Given the description of an element on the screen output the (x, y) to click on. 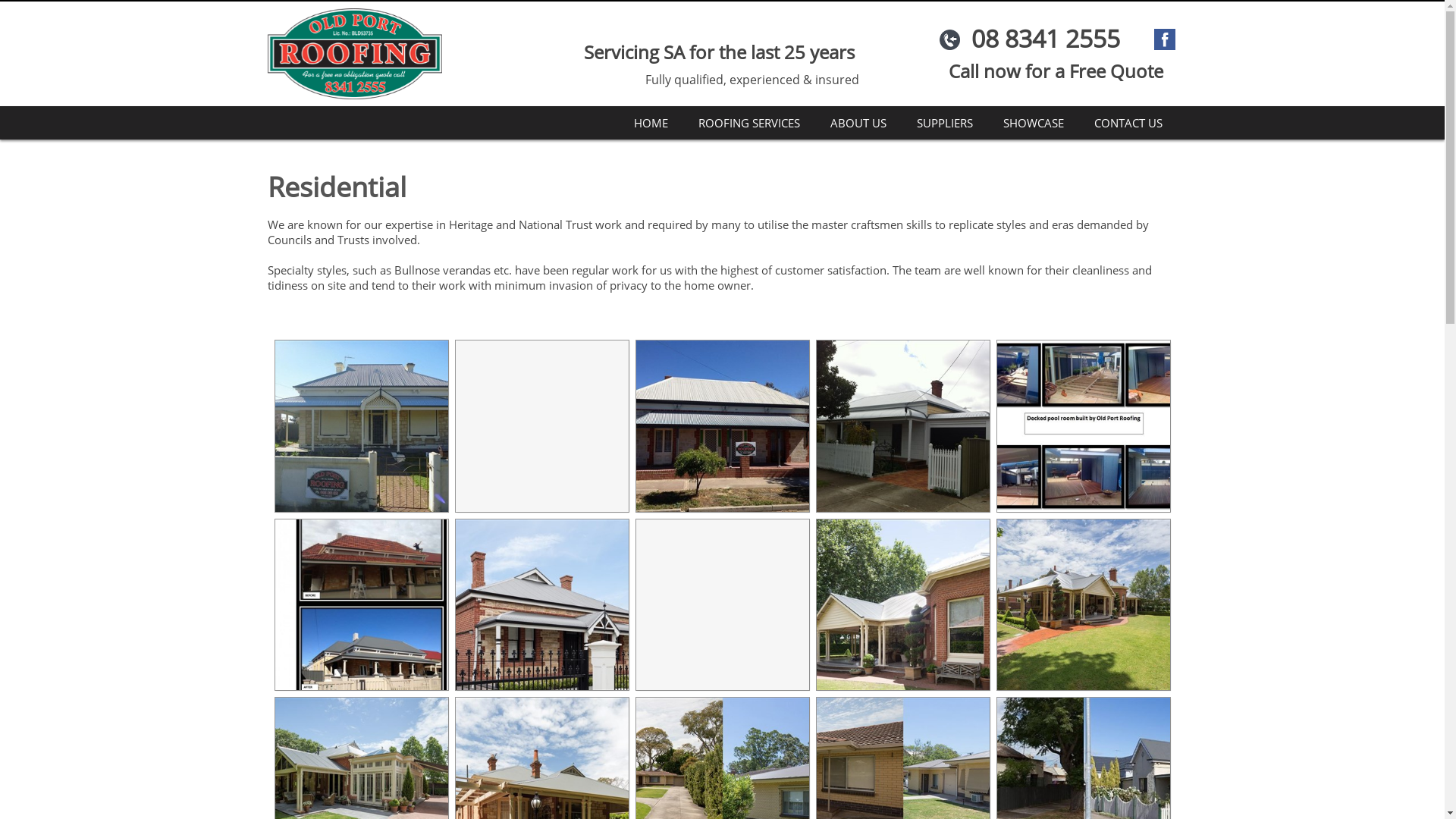
SHOWCASE Element type: text (1032, 122)
CONTACT US Element type: text (1127, 122)
ROOFING SERVICES Element type: text (748, 122)
HOME Element type: text (650, 122)
ABOUT US Element type: text (857, 122)
SUPPLIERS Element type: text (943, 122)
